Given the description of an element on the screen output the (x, y) to click on. 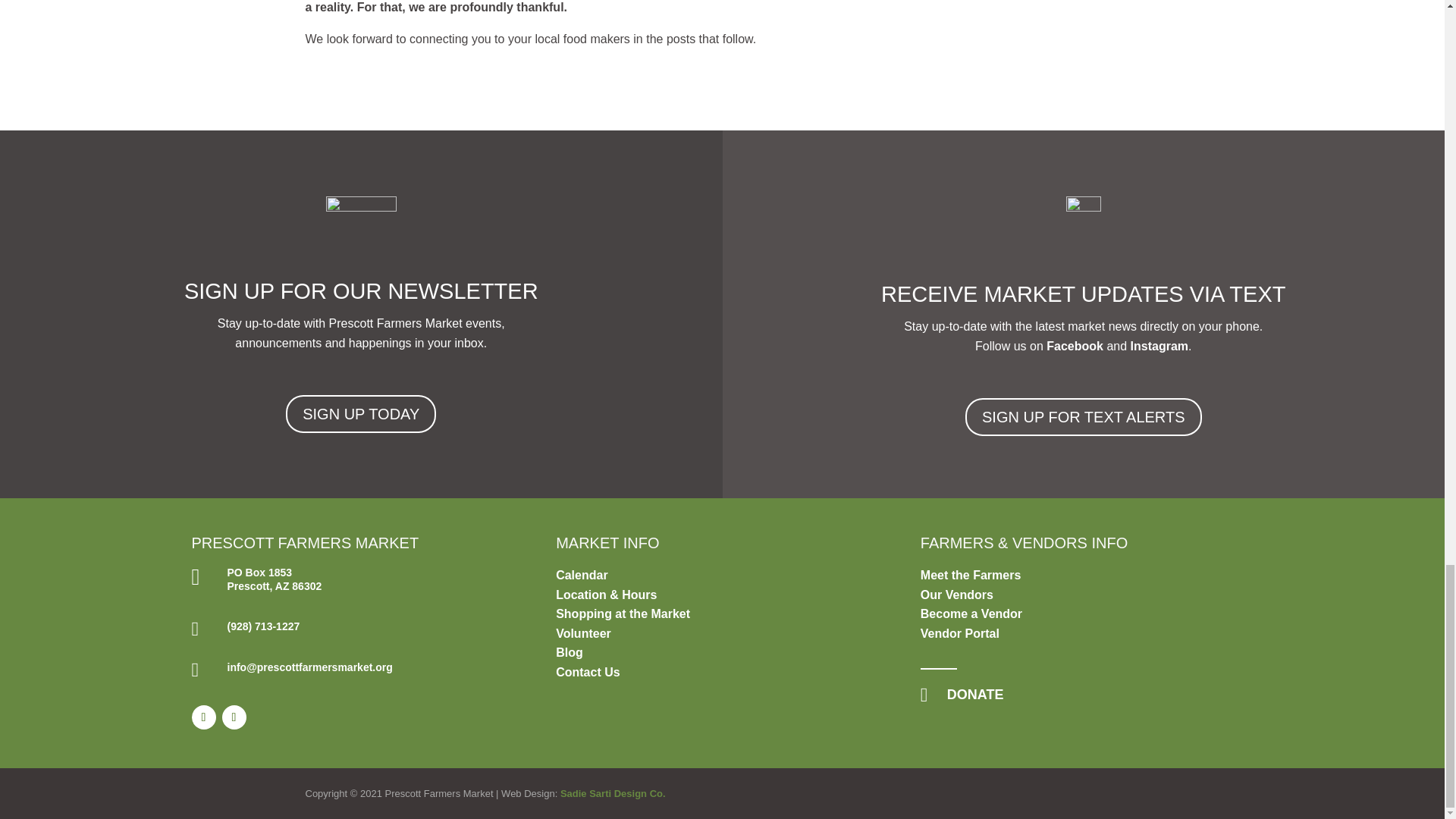
PFM-phone-icon (1082, 229)
Follow on Facebook (202, 717)
PFM-icon-mail (361, 225)
Follow on Instagram (233, 717)
